Given the description of an element on the screen output the (x, y) to click on. 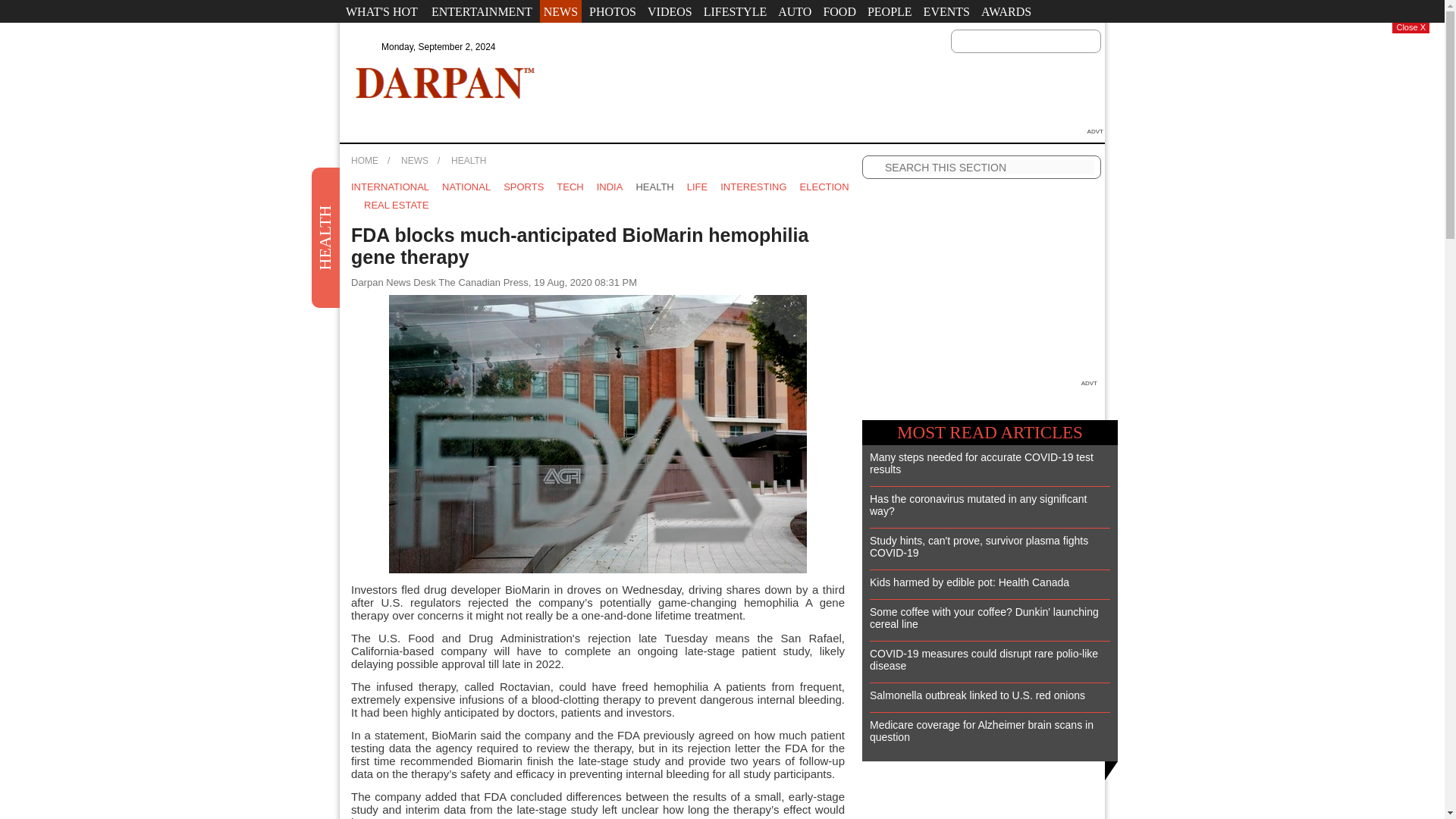
Entertainment (481, 11)
PHOTOS (612, 11)
Auto (794, 11)
Food (839, 11)
AWARDS (1005, 11)
FOOD (839, 11)
REAL ESTATE (396, 205)
News (560, 11)
Close X (1410, 27)
WHAT'S HOT (381, 11)
